Given the description of an element on the screen output the (x, y) to click on. 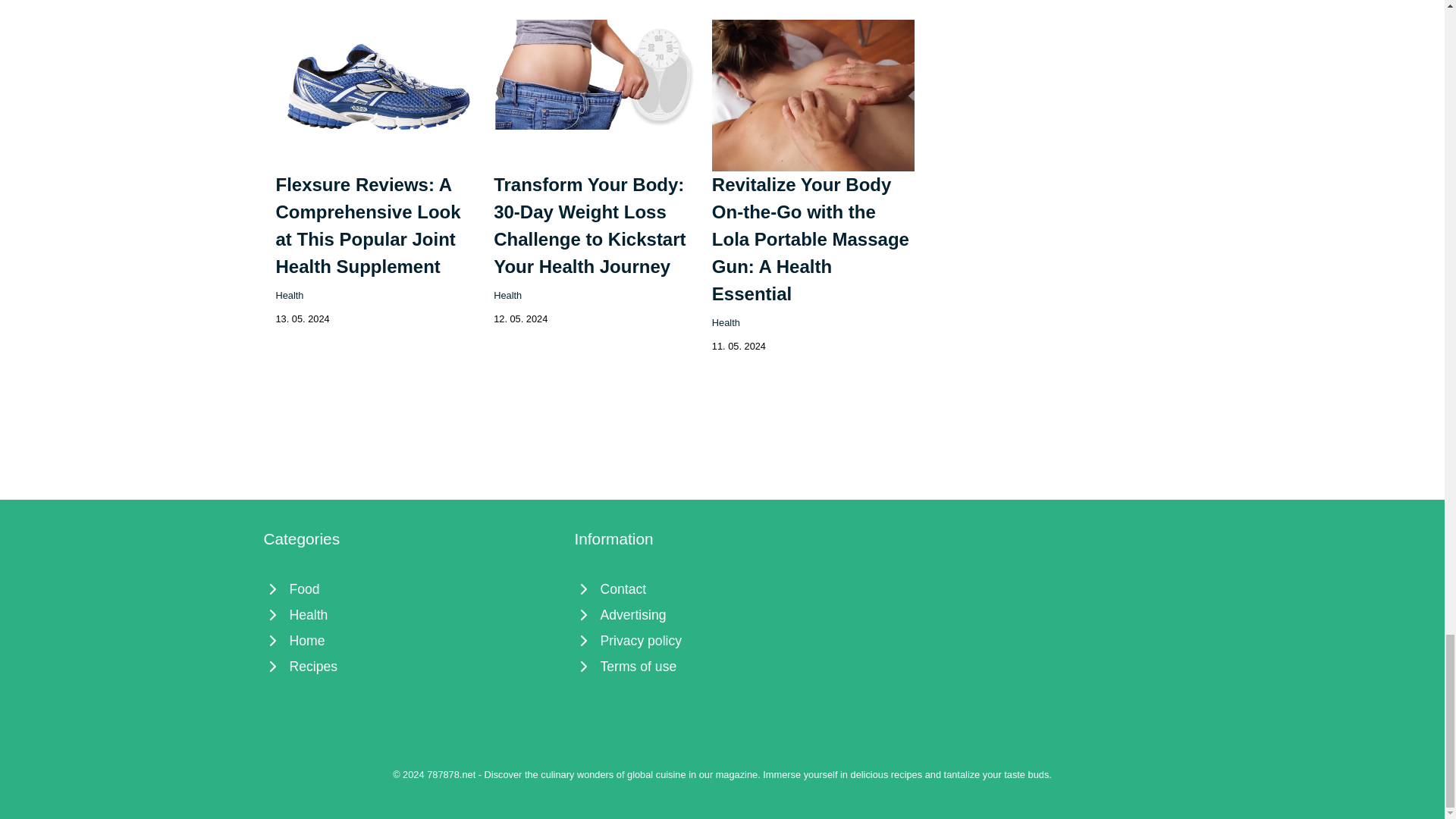
Health (290, 295)
Advertising (722, 614)
Terms of use (722, 666)
Health (725, 322)
Health (411, 614)
Home (411, 640)
Privacy policy (722, 640)
